Given the description of an element on the screen output the (x, y) to click on. 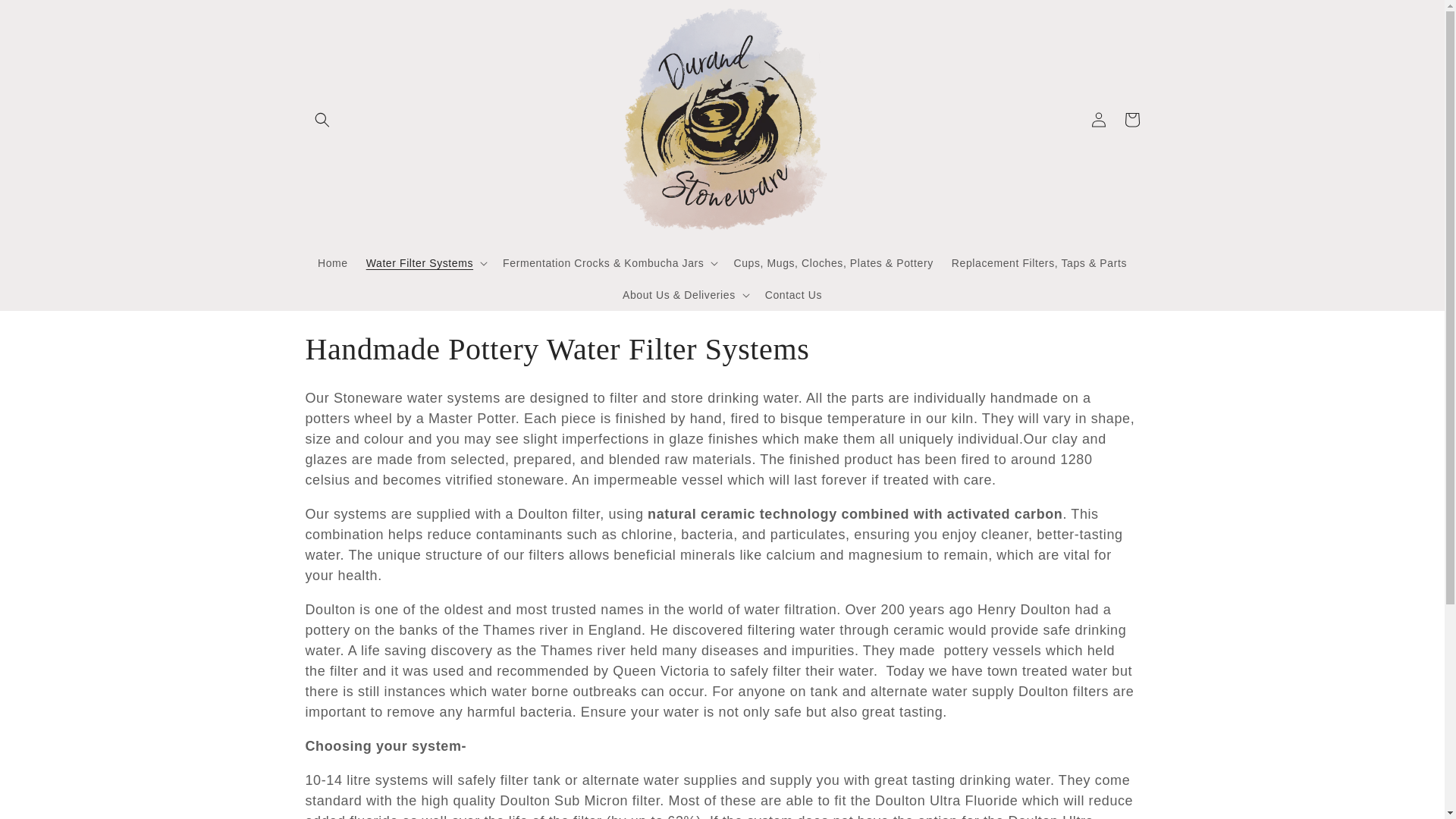
Skip to content (45, 17)
Home (332, 263)
